Given the description of an element on the screen output the (x, y) to click on. 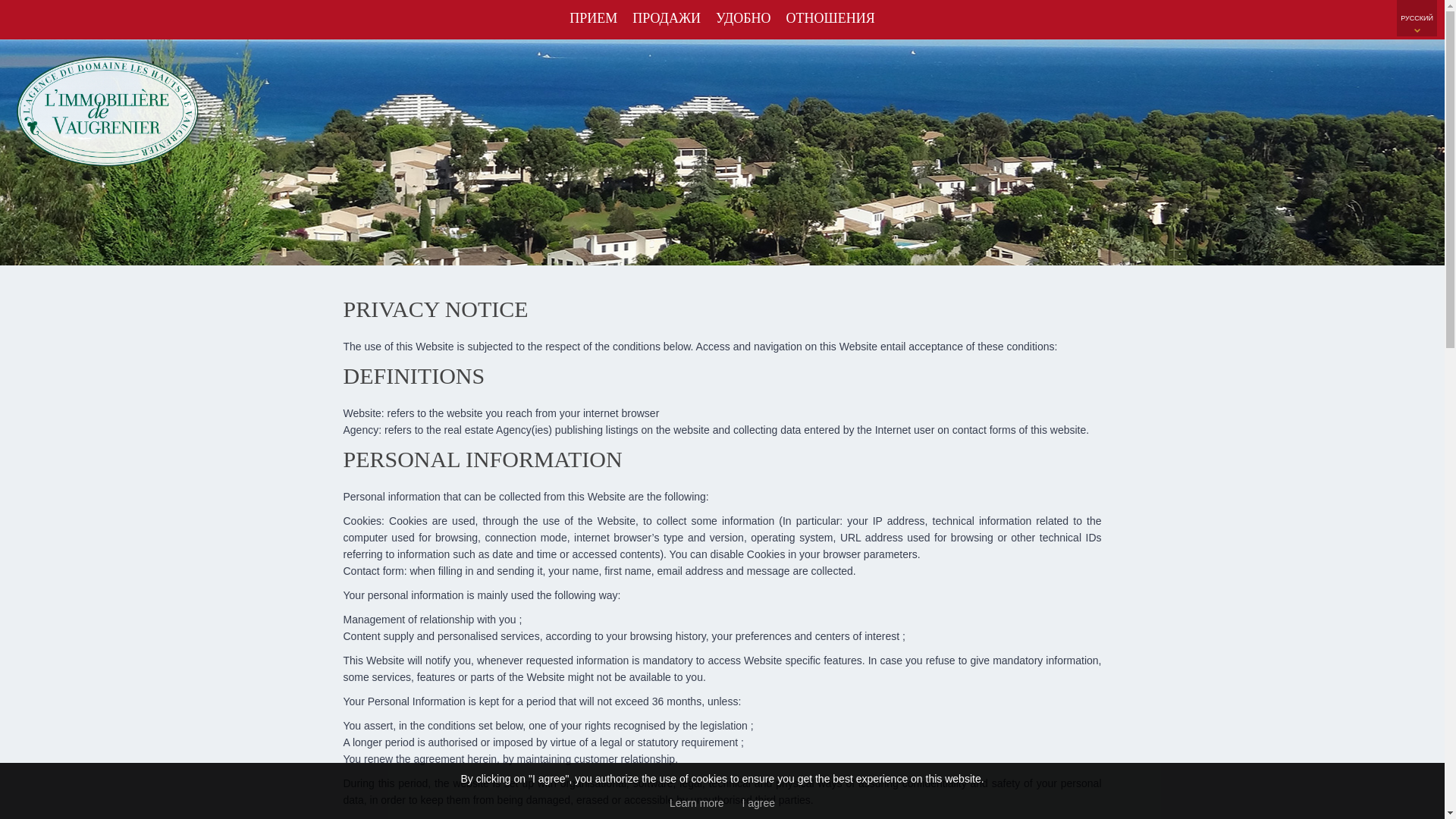
I agree (757, 802)
L'immobiliere de Vaugrenier (107, 164)
Learn more (696, 802)
